Given the description of an element on the screen output the (x, y) to click on. 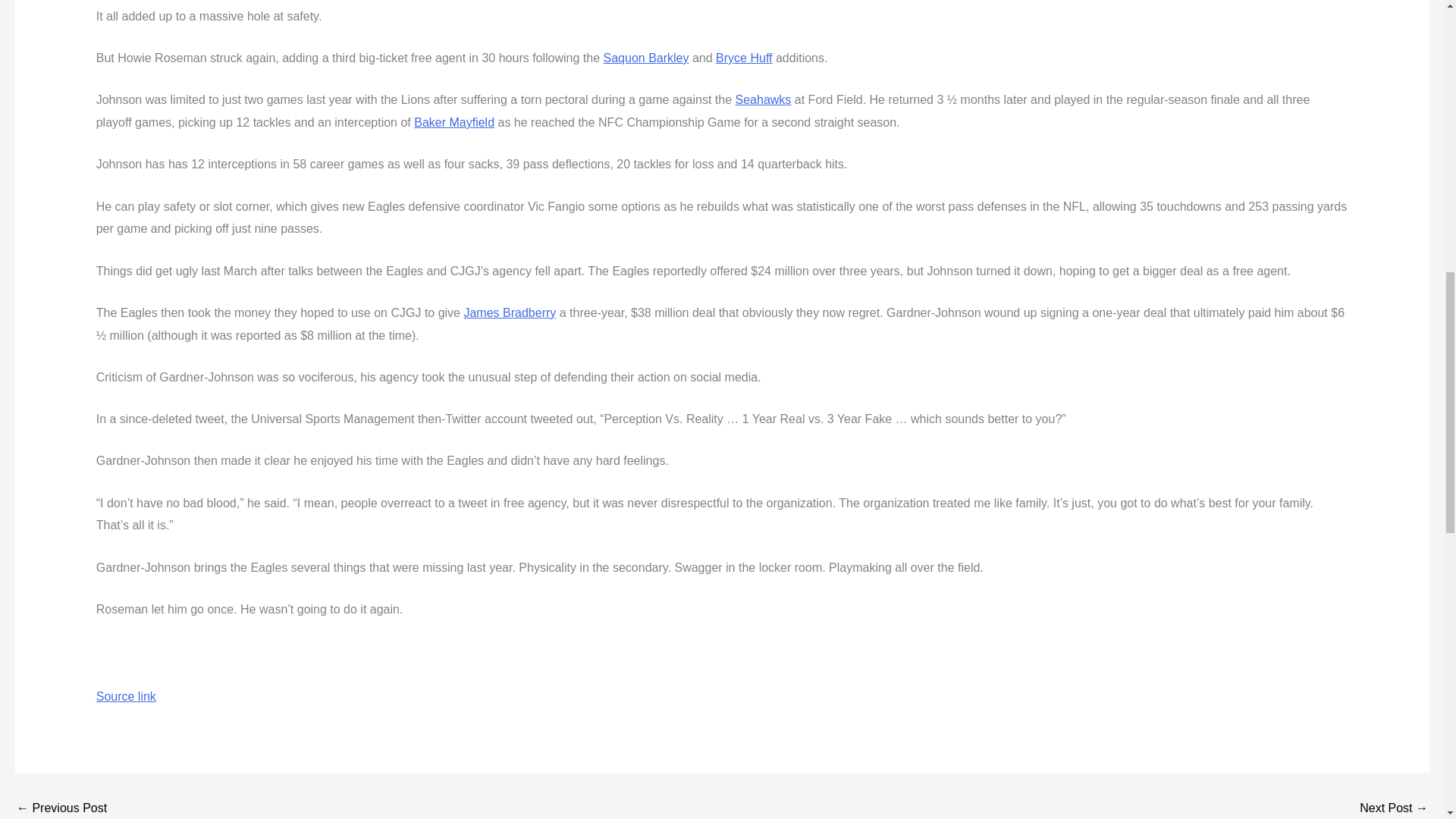
Saquon Barkley (646, 57)
Source link (125, 696)
Seahawks (763, 99)
Bryce Huff (743, 57)
James Bradberry (509, 312)
Report: Cardinals sign C Keith Ismael to one-year deal (1393, 808)
First Aid Ship Heads to Gaza, but Far More Is Needed (61, 808)
Baker Mayfield (454, 122)
